Given the description of an element on the screen output the (x, y) to click on. 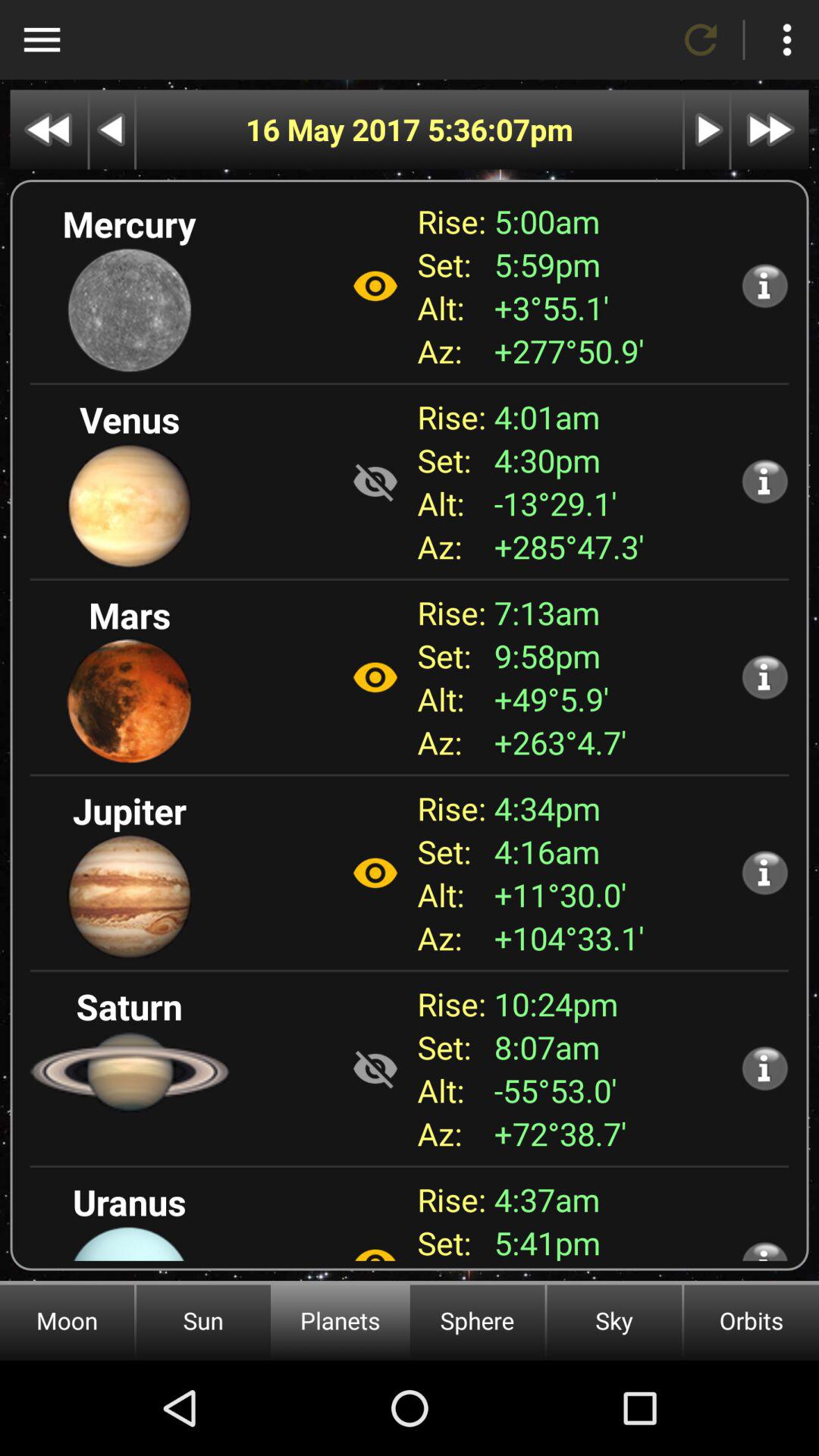
for vision (375, 1246)
